Given the description of an element on the screen output the (x, y) to click on. 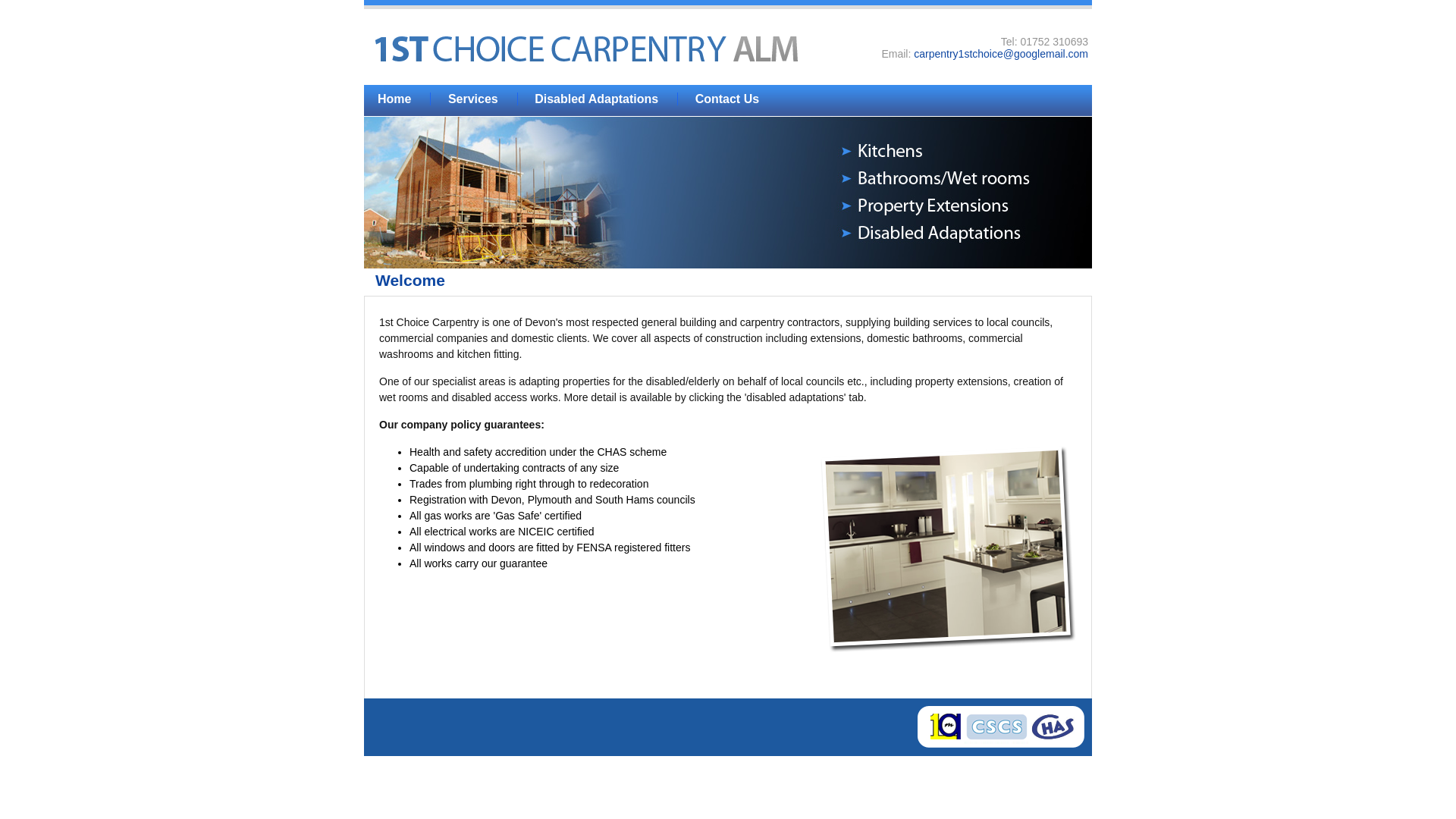
Services Element type: text (473, 98)
Contact Us Element type: text (727, 98)
Disabled Adaptations Element type: text (596, 98)
Home Element type: text (394, 98)
carpentry1stchoice@googlemail.com Element type: text (1000, 53)
